Given the description of an element on the screen output the (x, y) to click on. 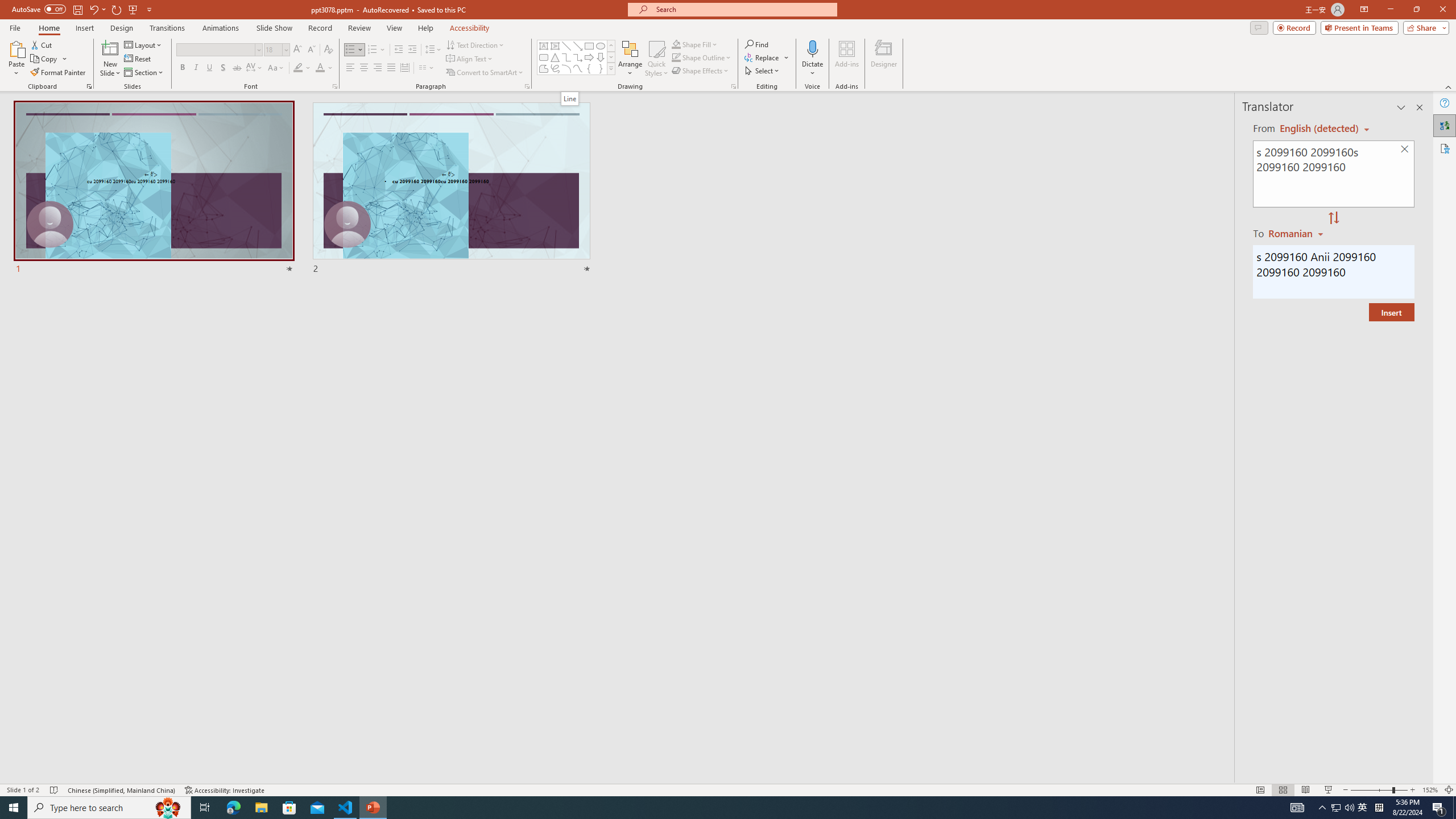
Increase Indent (412, 49)
Shape Fill Dark Green, Accent 2 (675, 44)
Cut (42, 44)
Rectangle: Rounded Corners (543, 57)
Right Brace (600, 68)
Paragraph... (526, 85)
